Given the description of an element on the screen output the (x, y) to click on. 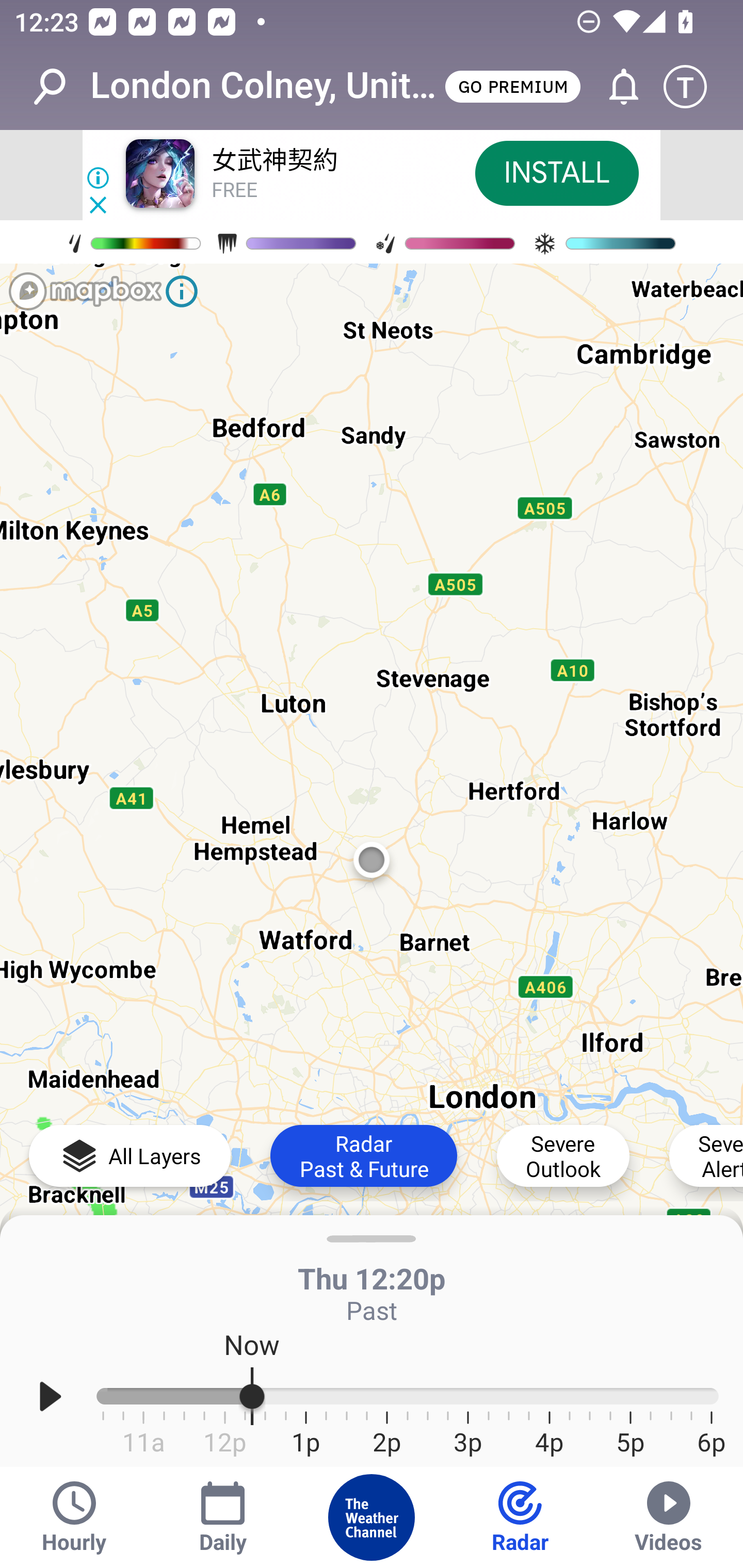
Search (59, 86)
Go to Alerts and Notifications (614, 86)
Setting icon T (694, 86)
London Colney, United Kingdom (265, 85)
GO PREMIUM (512, 85)
INSTALL (556, 173)
女武神契約 (274, 161)
FREE (234, 190)
All Layers (129, 1155)
Radar
Past & Future Radar Past & Future (363, 1155)
Severe
Outlook Severe Outlook (563, 1155)
Play (50, 1396)
Hourly Tab Hourly (74, 1517)
Daily Tab Daily (222, 1517)
Home Tab (371, 1517)
Videos Tab Videos (668, 1517)
